Given the description of an element on the screen output the (x, y) to click on. 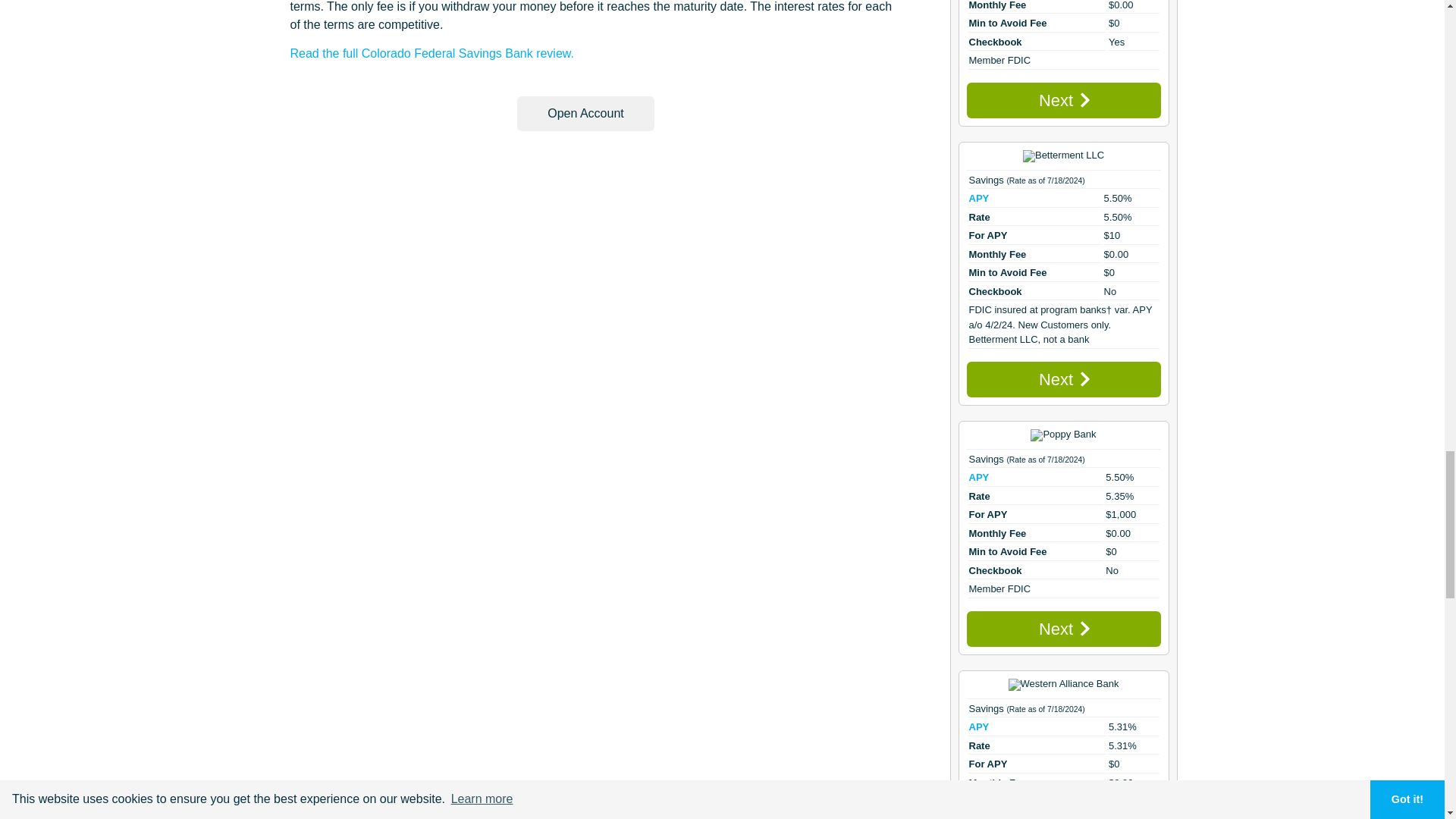
Open Account (584, 113)
Western Alliance Bank (1064, 684)
Next (1063, 99)
Next (1063, 628)
Read the full Colorado Federal Savings Bank review. (431, 52)
Next (1063, 379)
Betterment LLC (1063, 155)
Poppy Bank (1063, 435)
